Given the description of an element on the screen output the (x, y) to click on. 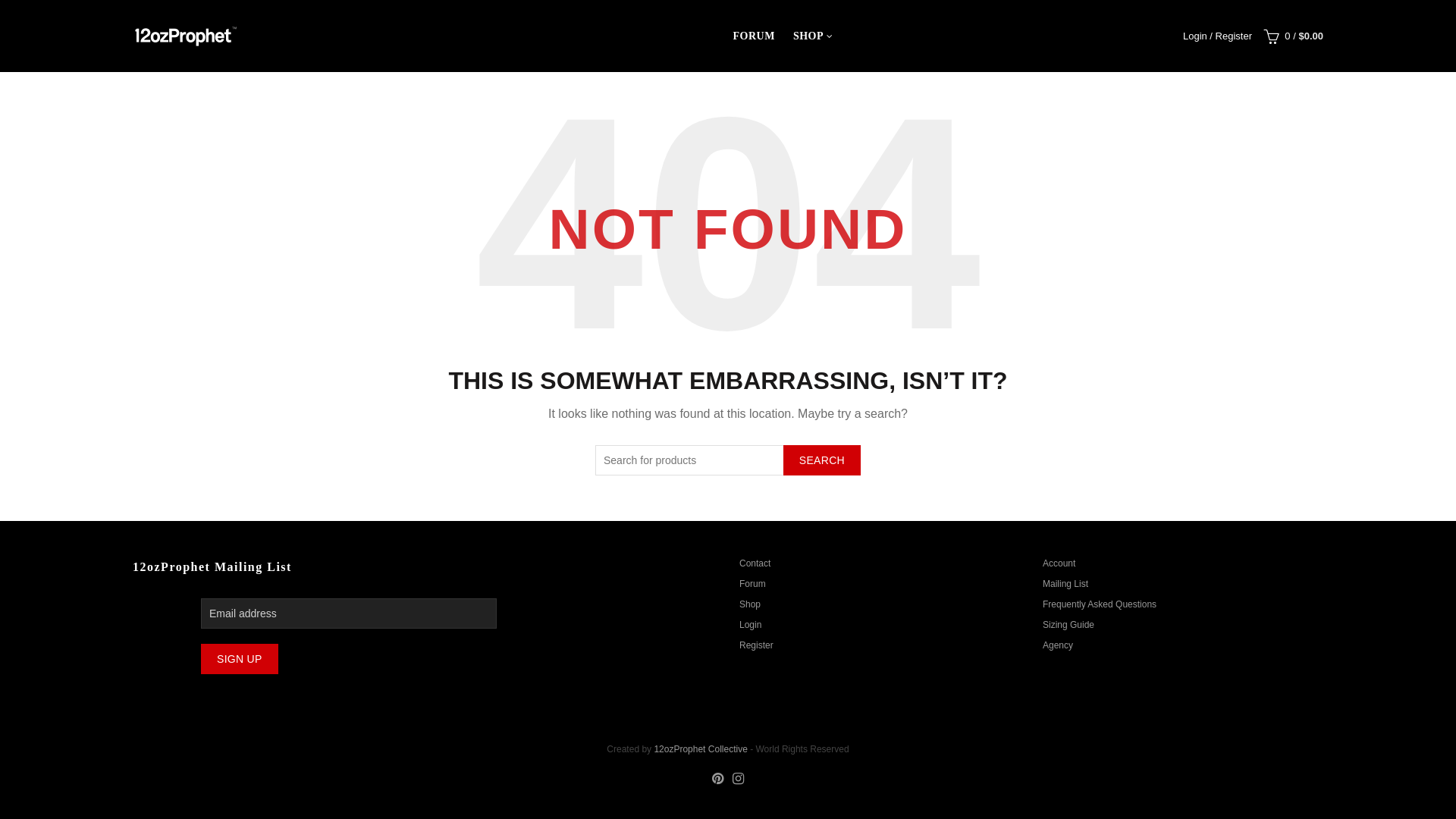
Forum Element type: text (752, 583)
Contact Element type: text (754, 563)
12ozProphet Collective Element type: text (699, 748)
Mailing List Element type: text (1065, 583)
Sizing Guide Element type: text (1068, 624)
Login / Register Element type: text (1217, 34)
FORUM Element type: text (753, 36)
Account Element type: text (1058, 563)
Login Element type: text (750, 624)
Shop Element type: text (749, 604)
Agency Element type: text (1057, 645)
Sign up Element type: text (239, 658)
SHOP Element type: text (808, 36)
Register Element type: text (756, 645)
0 / $0.00 Element type: text (1291, 35)
SEARCH Element type: text (821, 460)
Frequently Asked Questions Element type: text (1099, 604)
